Given the description of an element on the screen output the (x, y) to click on. 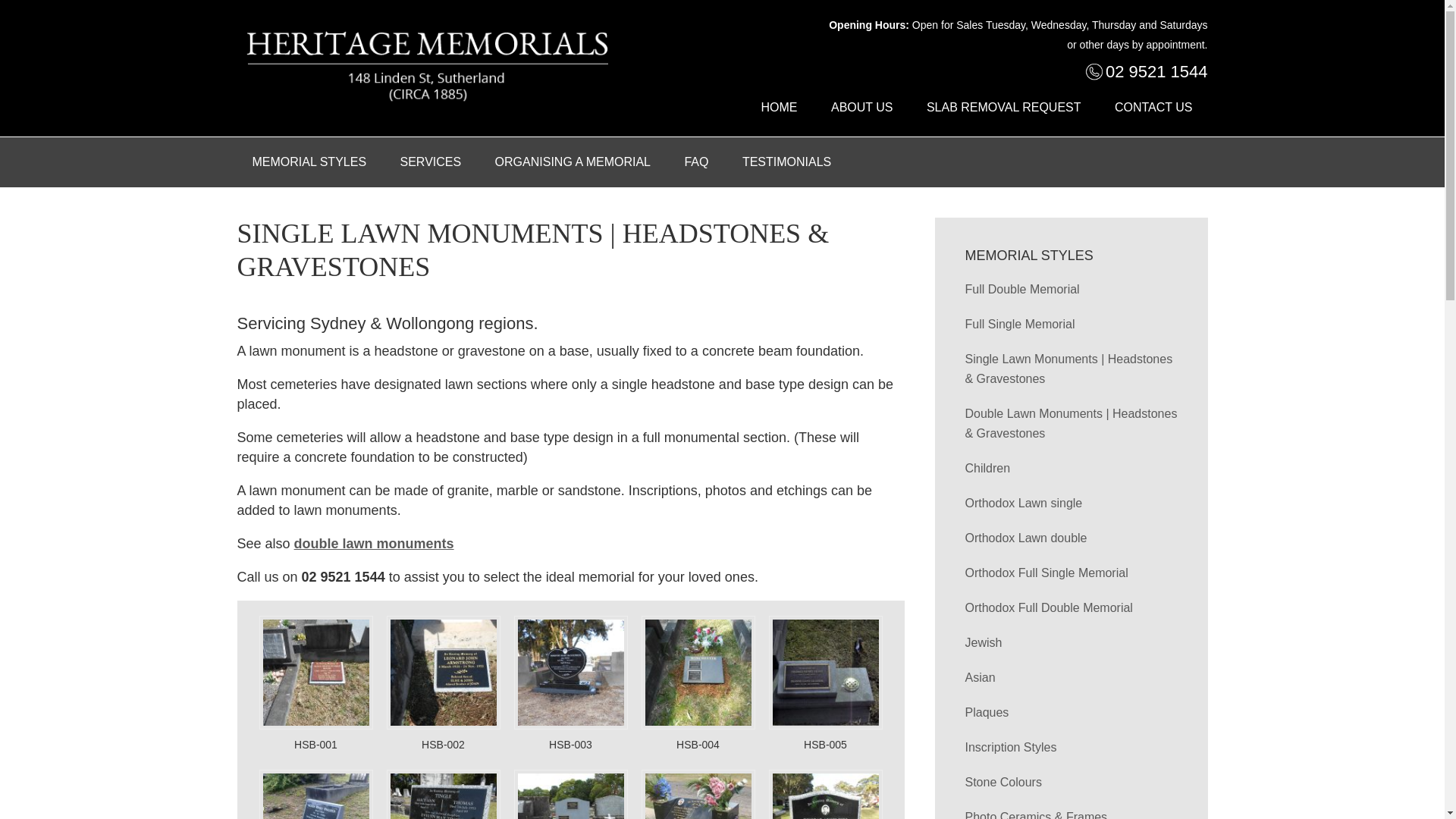
TESTIMONIALS Element type: text (786, 162)
Single Lawn Monuments | Headstones & Gravestones Element type: text (1068, 368)
Asian Element type: text (979, 677)
HOME Element type: text (779, 107)
Plaques Element type: text (986, 712)
Jewish Element type: text (982, 642)
Orthodox Full Single Memorial Element type: text (1045, 572)
Orthodox Lawn single Element type: text (1023, 502)
Double Lawn Monuments | Headstones & Gravestones Element type: text (1070, 423)
SLAB REMOVAL REQUEST Element type: text (1003, 107)
Stone Colours Element type: text (1002, 781)
double lawn monuments Element type: text (374, 543)
ABOUT US Element type: text (861, 107)
Orthodox Full Double Memorial Element type: text (1048, 607)
HERITAGE MEMORIALS Element type: text (425, 68)
Full Single Memorial Element type: text (1019, 323)
SERVICES Element type: text (430, 162)
Inscription Styles Element type: text (1010, 746)
Orthodox Lawn double Element type: text (1025, 537)
FAQ Element type: text (695, 162)
ORGANISING A MEMORIAL Element type: text (572, 162)
MEMORIAL STYLES Element type: text (308, 162)
Skip to primary navigation Element type: text (0, 0)
Full Double Memorial Element type: text (1021, 288)
Children Element type: text (987, 467)
CONTACT US Element type: text (1153, 107)
